Given the description of an element on the screen output the (x, y) to click on. 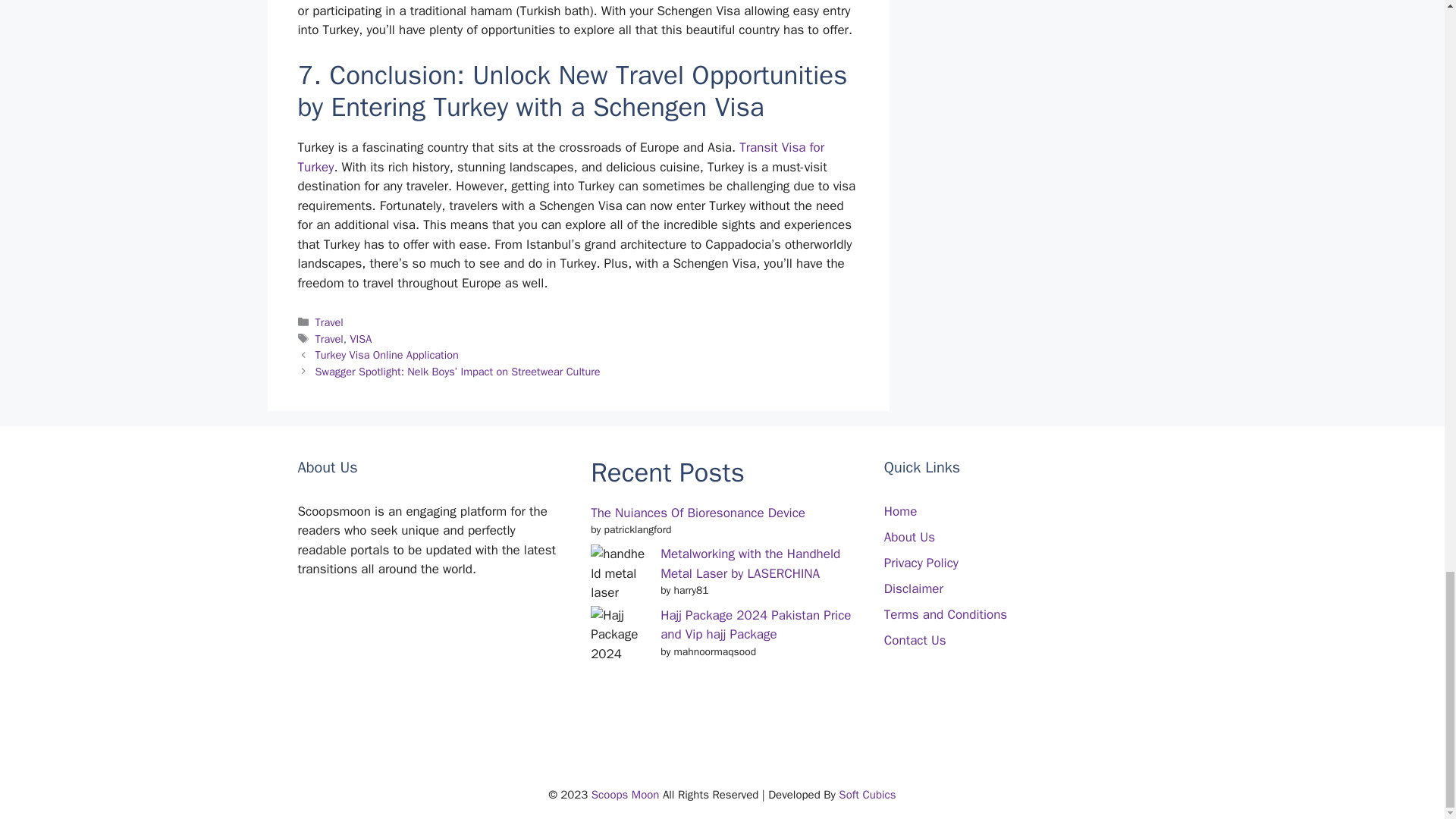
VISA (360, 338)
Travel (329, 322)
Travel (329, 338)
Turkey Visa Online Application (386, 354)
Metalworking with the Handheld Metal Laser by LASERCHINA (750, 563)
Hajj Package 2024 Pakistan Price and Vip hajj Package (755, 624)
The Nuiances Of Bioresonance Device (698, 512)
Transit Visa for Turkey (560, 157)
